Given the description of an element on the screen output the (x, y) to click on. 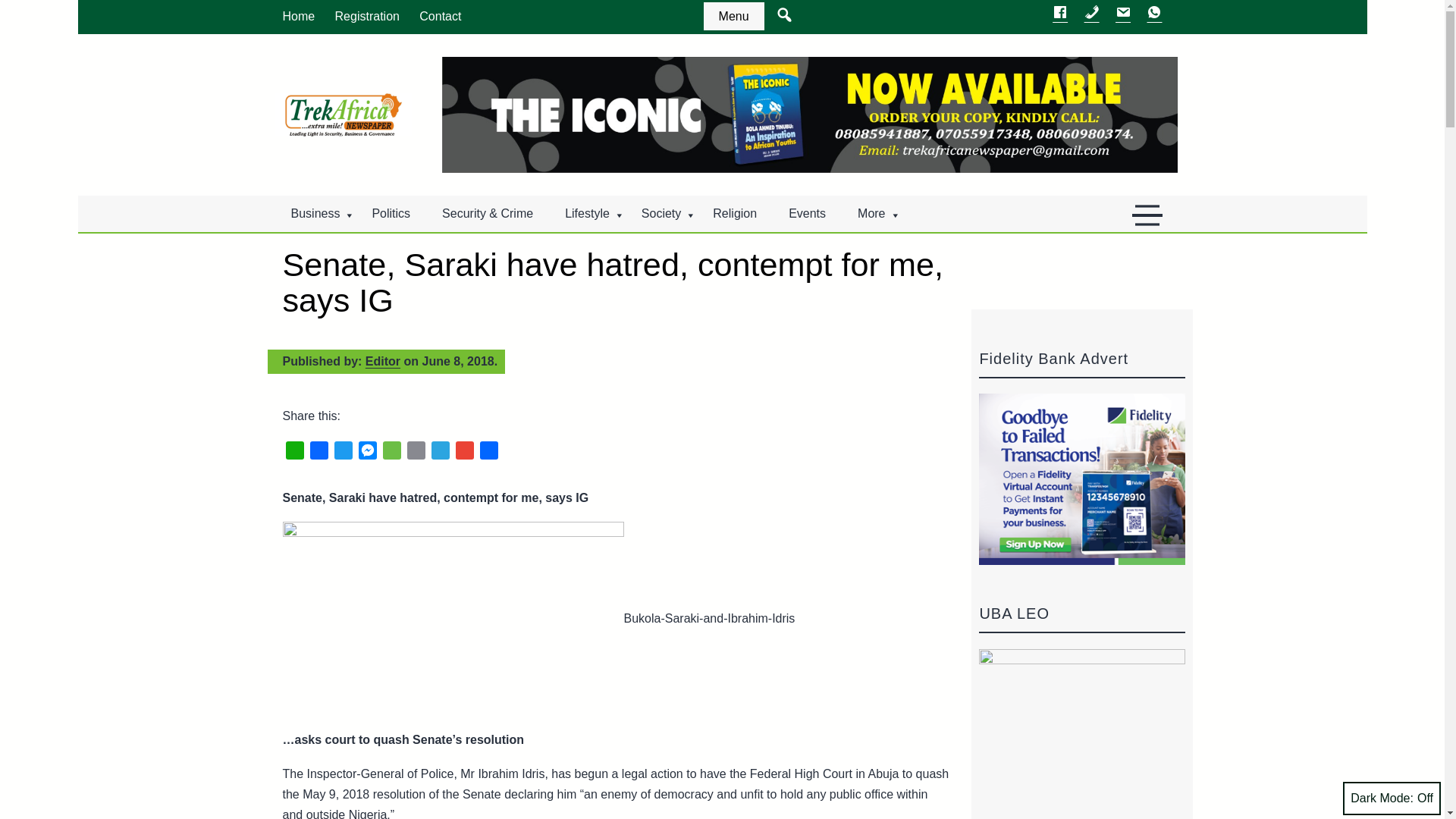
Call Trek Africa (1091, 15)
Business (315, 213)
WhatsApp (293, 453)
Messenger (366, 453)
Facebook (317, 453)
Search here (782, 12)
Email (415, 453)
Message (390, 453)
Trek Africa on Facebook (1059, 15)
Posts by Editor (382, 360)
